Given the description of an element on the screen output the (x, y) to click on. 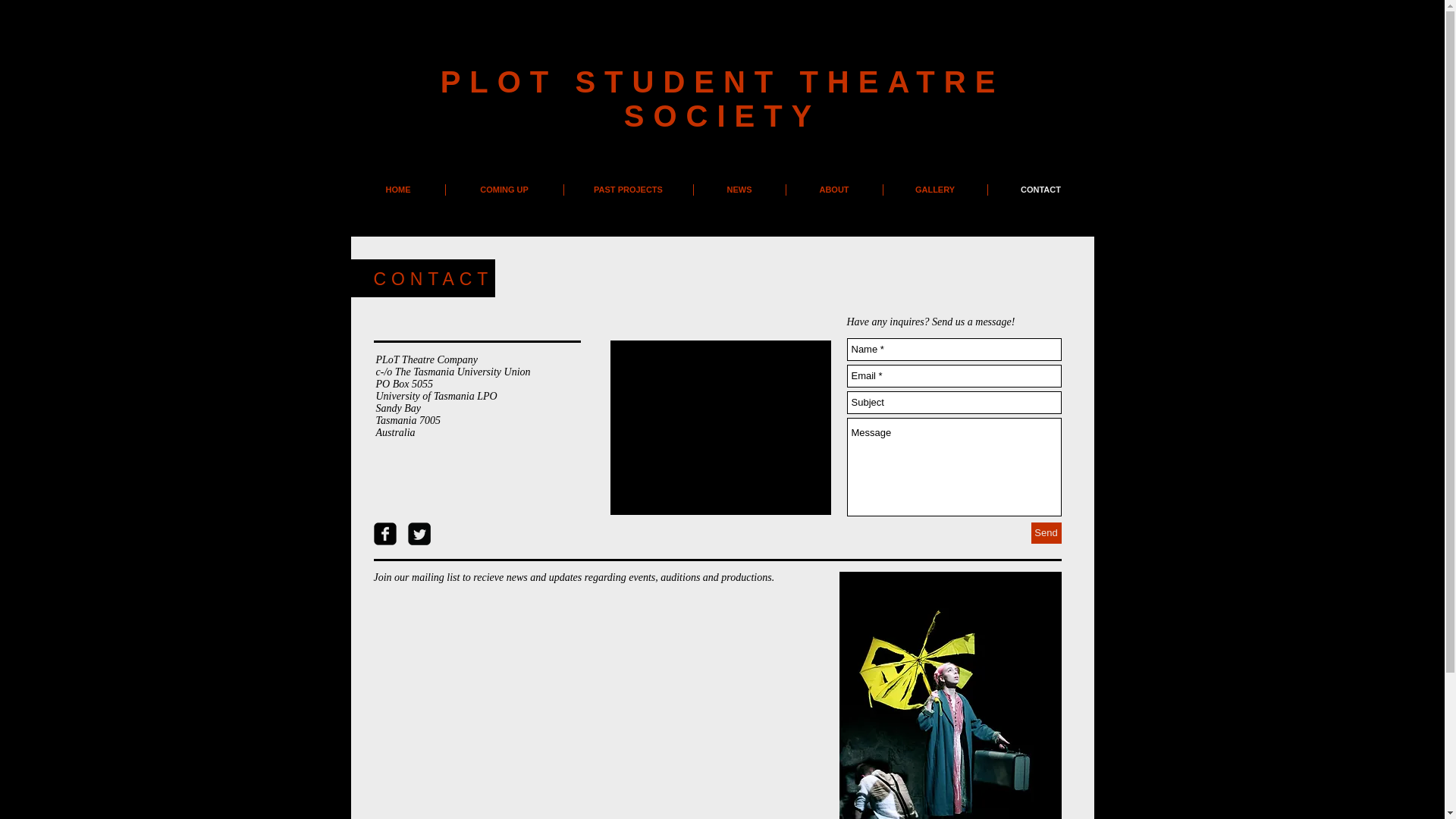
COMING UP (504, 189)
GALLERY (934, 189)
PLOT STUDENT THEATRE SOCIETY (722, 98)
HOME (398, 189)
NEWS (738, 189)
Send (1045, 532)
PAST PROJECTS (628, 189)
CONTACT (1040, 189)
ABOUT (834, 189)
